Given the description of an element on the screen output the (x, y) to click on. 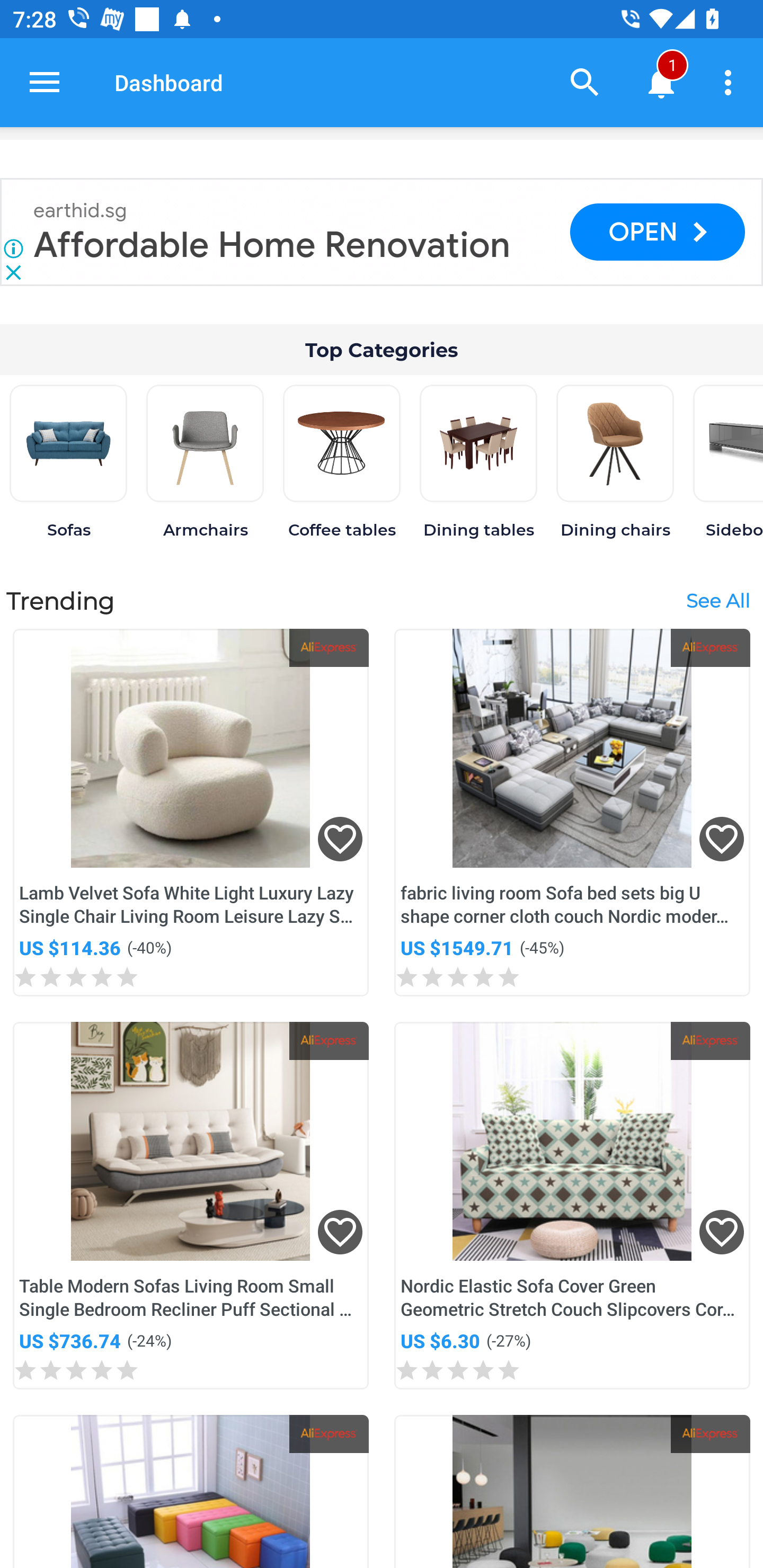
Open navigation drawer (44, 82)
Search (585, 81)
1 (661, 81)
More options (731, 81)
earthid.sg (80, 210)
OPEN (657, 231)
Affordable Home Renovation (272, 244)
See All (717, 600)
